Given the description of an element on the screen output the (x, y) to click on. 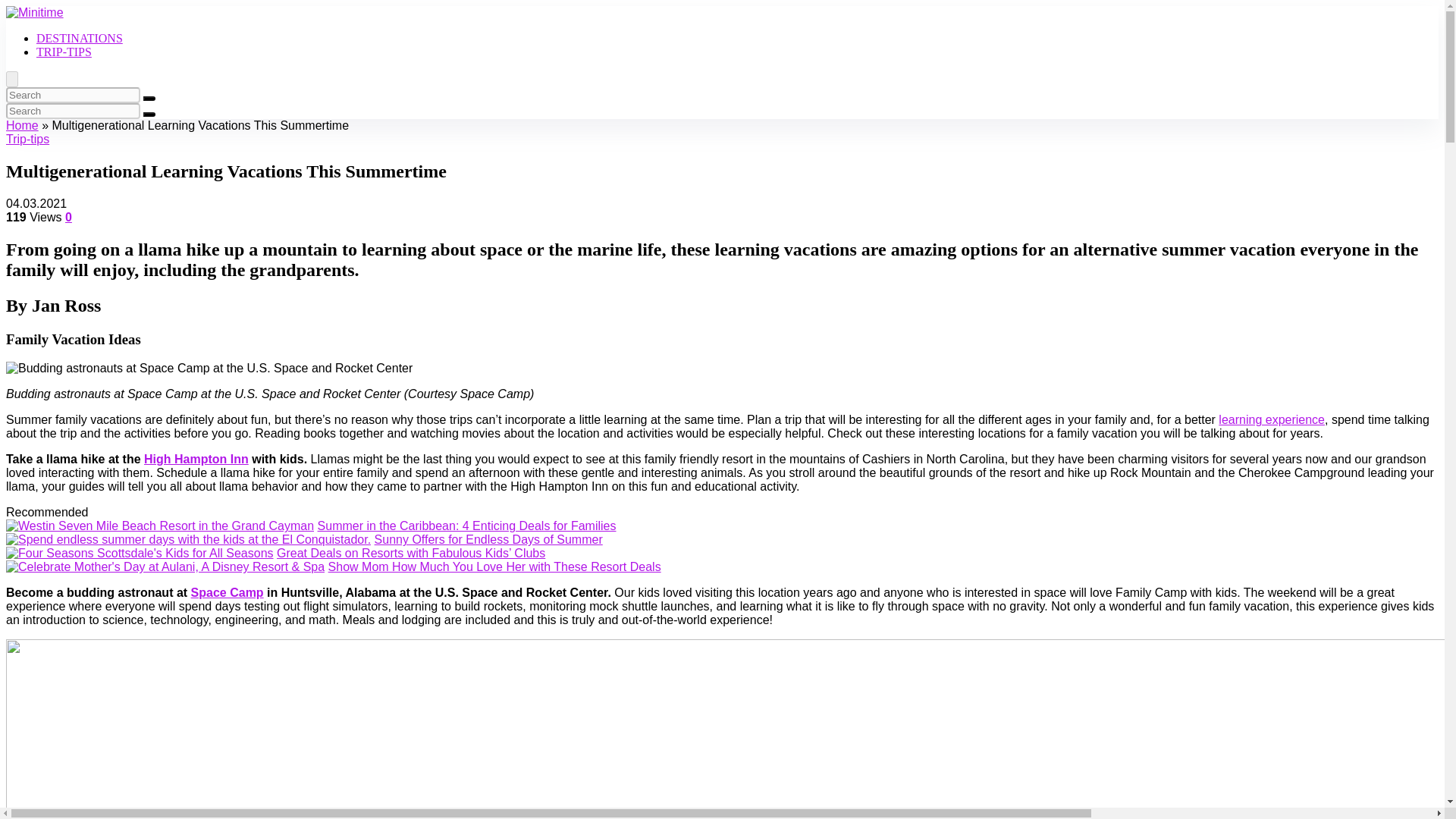
High Hampton Inn (196, 459)
learning experience (1271, 419)
Space Camp (226, 592)
View all posts in Trip-tips (27, 138)
Trip-tips (27, 138)
TRIP-TIPS (63, 51)
Home (22, 124)
Show Mom How Much You Love Her with These Resort Deals (495, 566)
DESTINATIONS (79, 38)
Sunny Offers for Endless Days of Summer (488, 539)
